Given the description of an element on the screen output the (x, y) to click on. 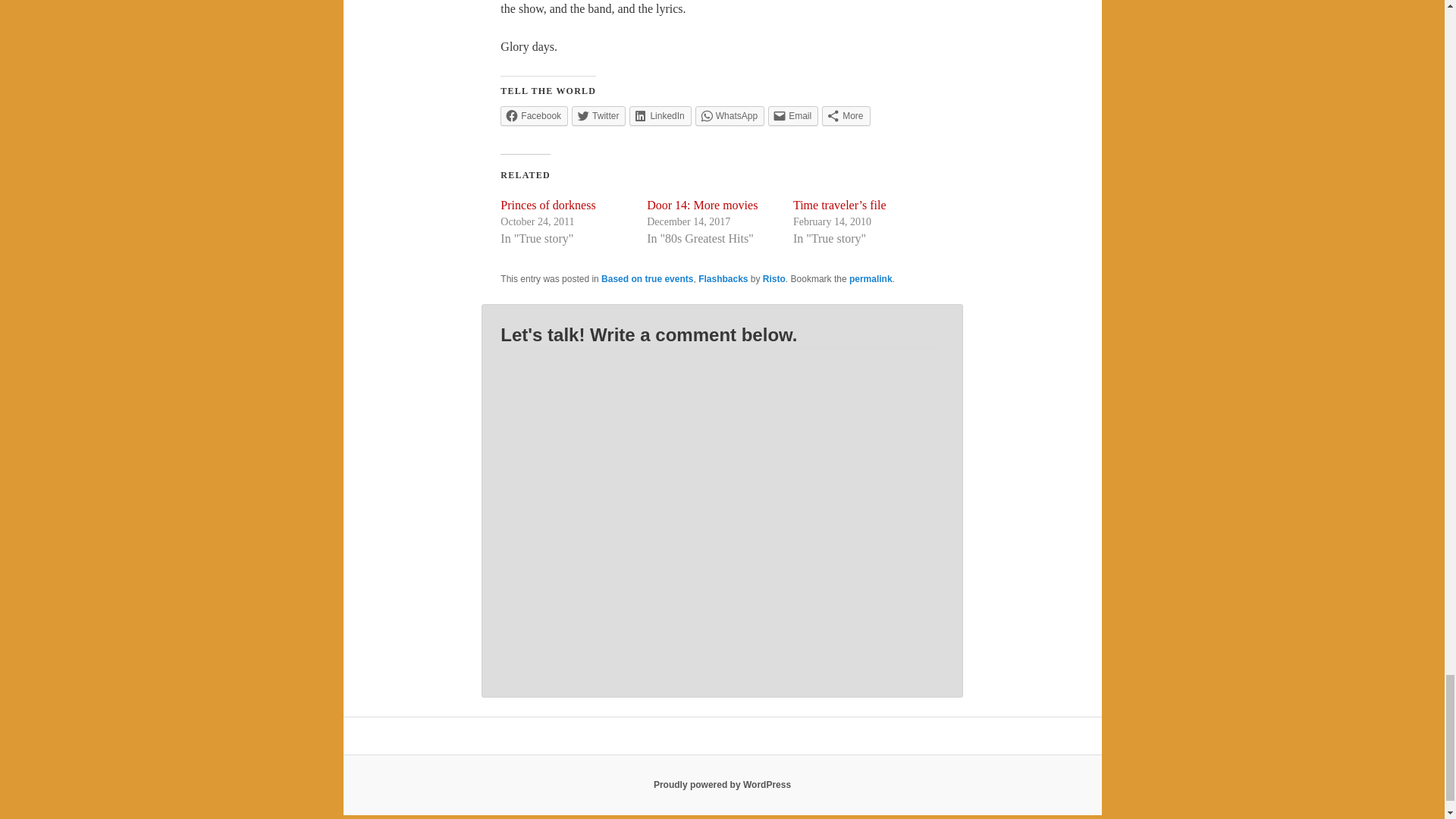
Twitter (599, 116)
Risto (774, 278)
More (845, 116)
Proudly powered by WordPress (721, 784)
Click to share on LinkedIn (659, 116)
Door 14: More movies (701, 205)
Email (793, 116)
Based on true events (647, 278)
permalink (870, 278)
Princes of dorkness (547, 205)
